Given the description of an element on the screen output the (x, y) to click on. 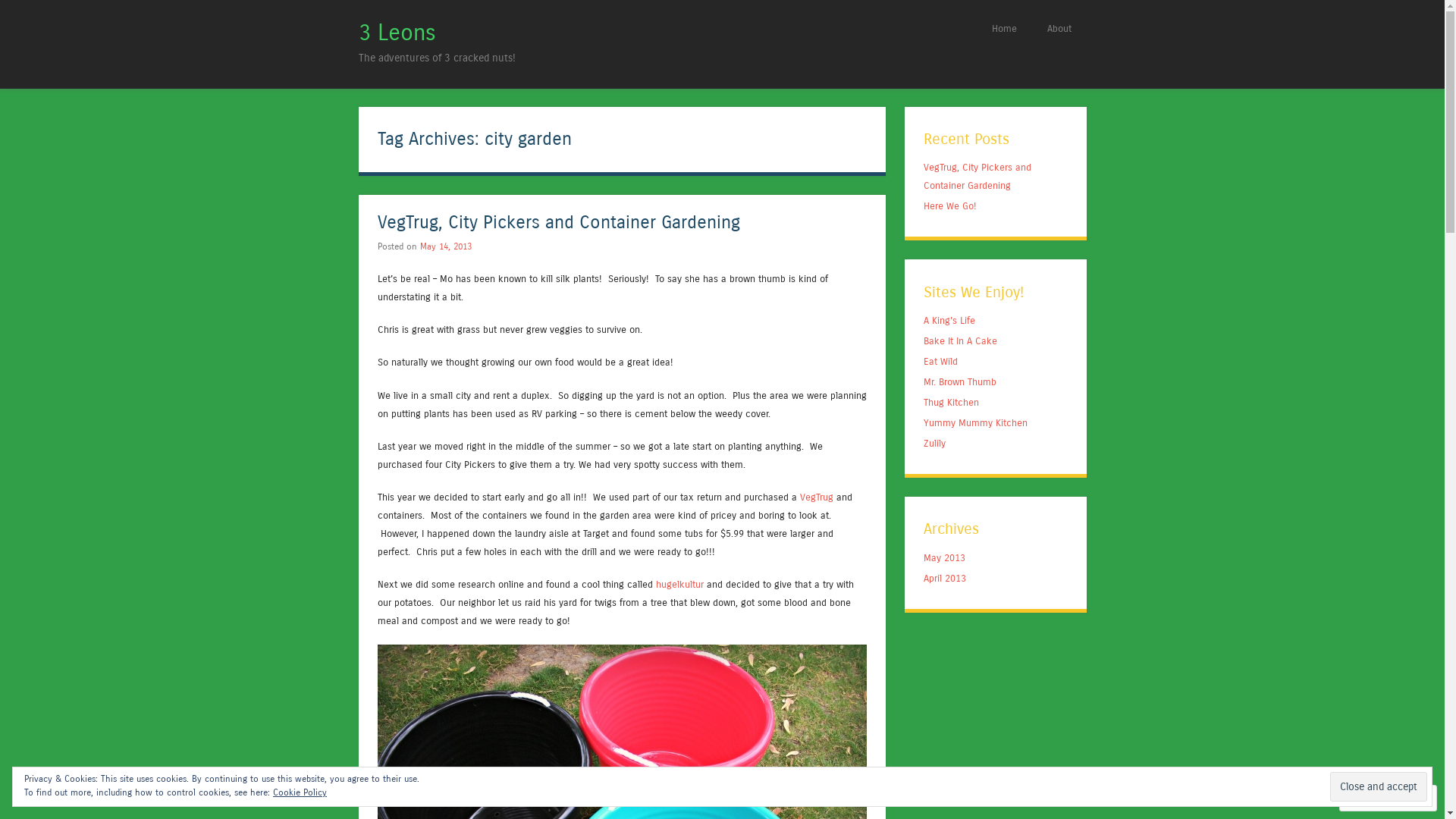
Bake It In A Cake Element type: text (960, 340)
VegTrug Element type: text (815, 496)
Here We Go! Element type: text (949, 205)
A King's Life Element type: text (949, 320)
Mr. Brown Thumb Element type: text (959, 381)
Yummy Mummy Kitchen Element type: text (975, 422)
May 14, 2013 Element type: text (445, 246)
Eat Wild Element type: text (940, 361)
Cookie Policy Element type: text (299, 792)
Thug Kitchen Element type: text (951, 401)
May 2013 Element type: text (944, 557)
About Element type: text (1058, 27)
Zulily Element type: text (934, 442)
hugelkultur Element type: text (678, 583)
VegTrug, City Pickers and Container Gardening Element type: text (977, 176)
Home Element type: text (1004, 27)
Skip to content Element type: text (769, 27)
Follow Element type: text (1373, 797)
April 2013 Element type: text (944, 577)
Close and accept Element type: text (1378, 786)
VegTrug, City Pickers and Container Gardening Element type: text (558, 222)
3 Leons Element type: text (396, 32)
